Given the description of an element on the screen output the (x, y) to click on. 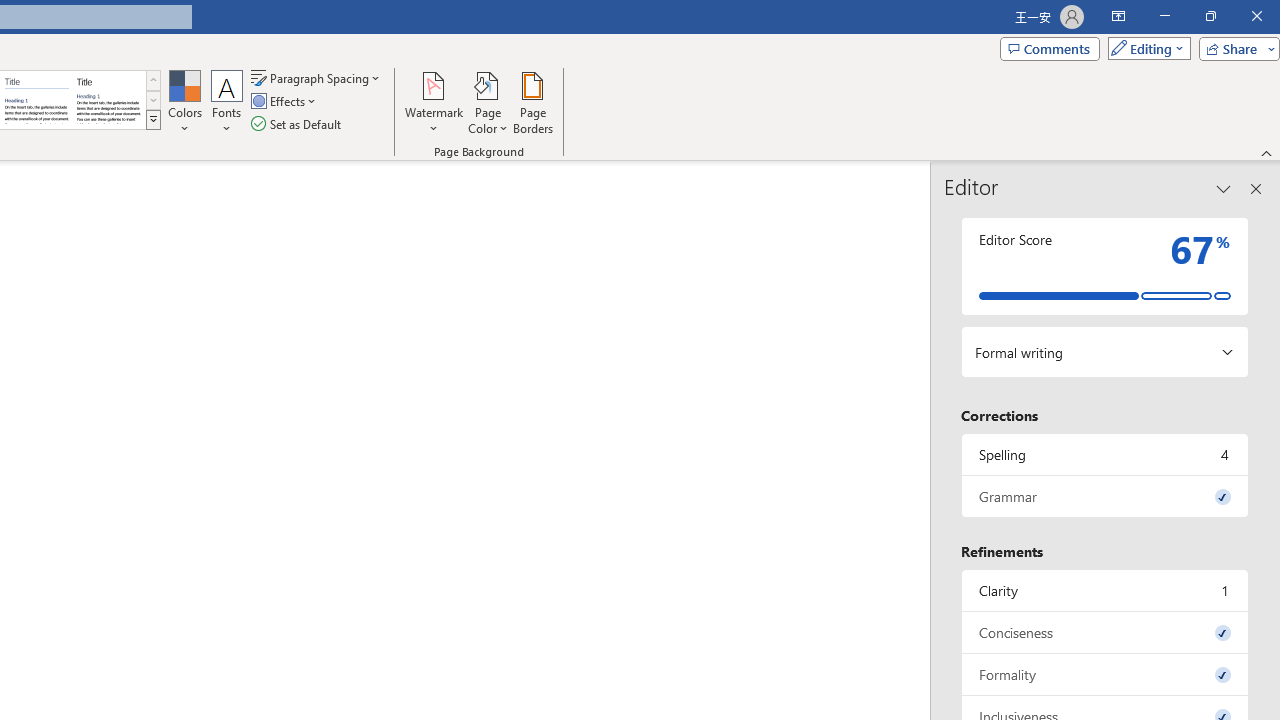
Conciseness, 0 issues. Press space or enter to review items. (1105, 632)
Paragraph Spacing (317, 78)
Word 2010 (36, 100)
Watermark (434, 102)
Set as Default (298, 124)
Colors (184, 102)
Page Borders... (532, 102)
Grammar, 0 issues. Press space or enter to review items. (1105, 495)
